Given the description of an element on the screen output the (x, y) to click on. 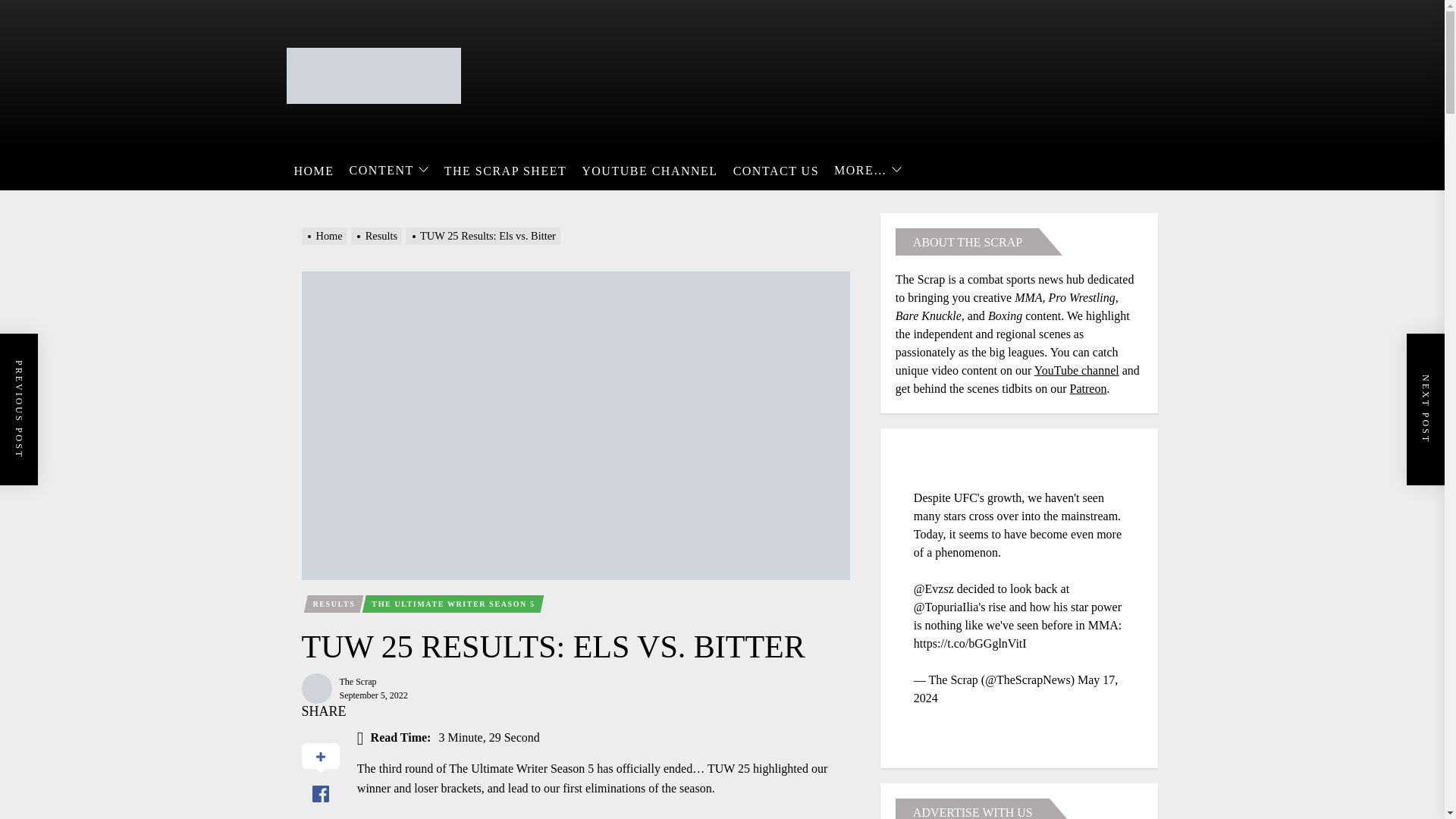
THE SCRAP SHEET (505, 171)
CONTACT US (775, 171)
HOME (314, 171)
YOUTUBE CHANNEL (648, 171)
CONTENT (389, 170)
